Given the description of an element on the screen output the (x, y) to click on. 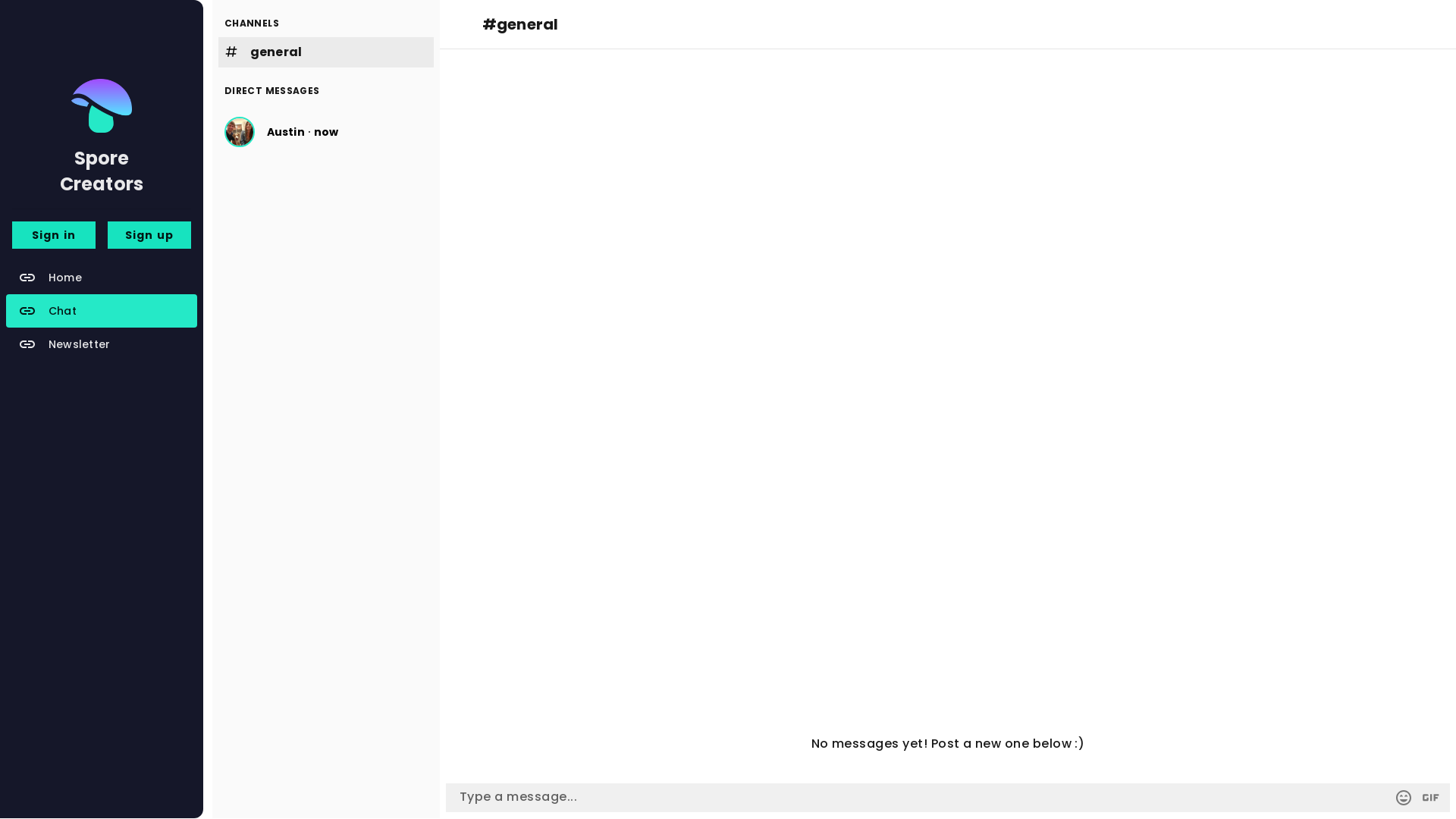
Home Element type: text (101, 277)
Chat Element type: text (101, 310)
Newsletter Element type: text (101, 343)
